Given the description of an element on the screen output the (x, y) to click on. 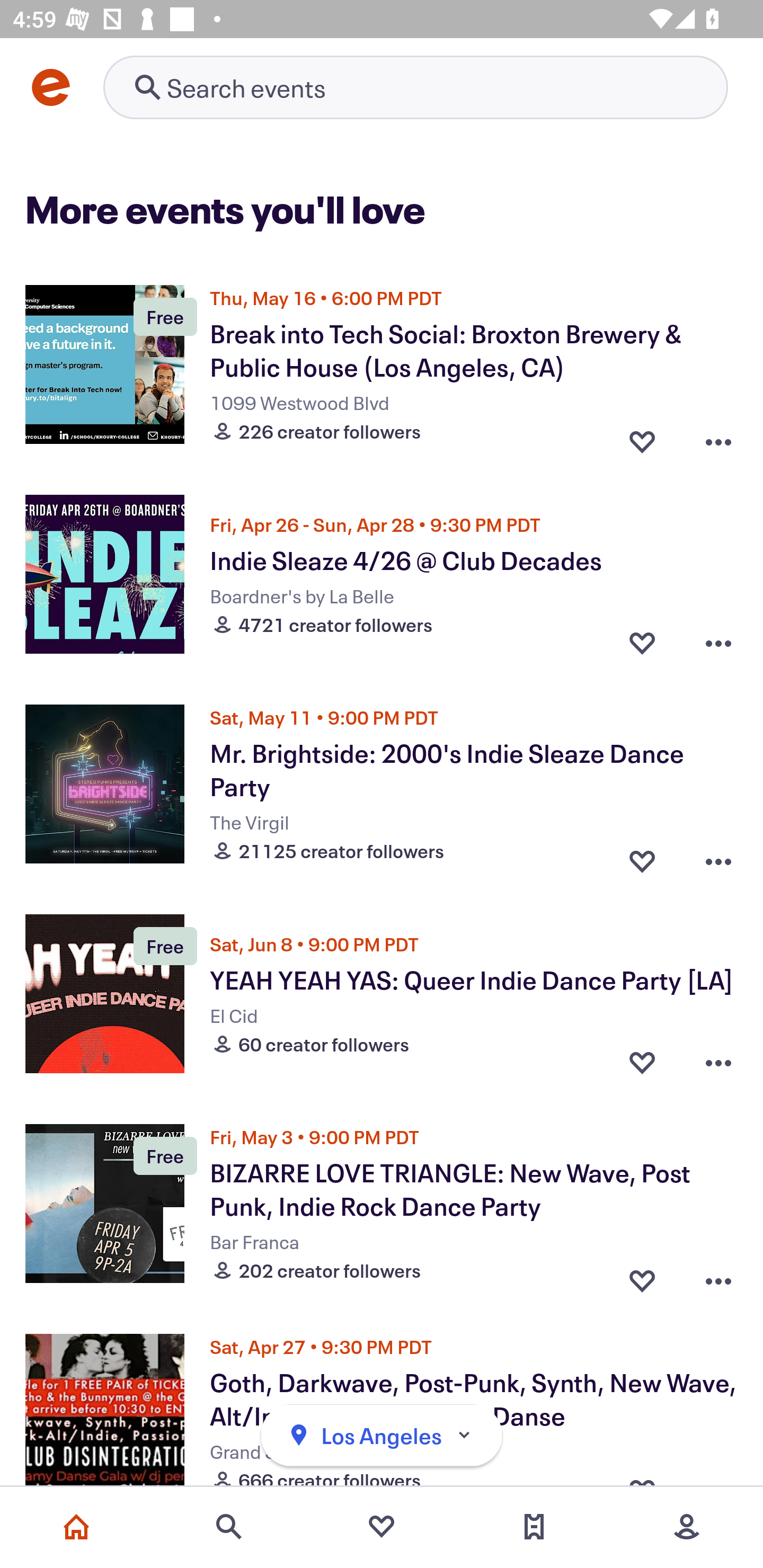
Retry's image Search events (415, 86)
Favorite button (642, 436)
Overflow menu button (718, 436)
Favorite button (642, 641)
Overflow menu button (718, 641)
Favorite button (642, 856)
Overflow menu button (718, 856)
Favorite button (642, 1062)
Overflow menu button (718, 1062)
Favorite button (642, 1275)
Overflow menu button (718, 1275)
Los Angeles (381, 1435)
Home (76, 1526)
Search events (228, 1526)
Favorites (381, 1526)
Tickets (533, 1526)
More (686, 1526)
